Given the description of an element on the screen output the (x, y) to click on. 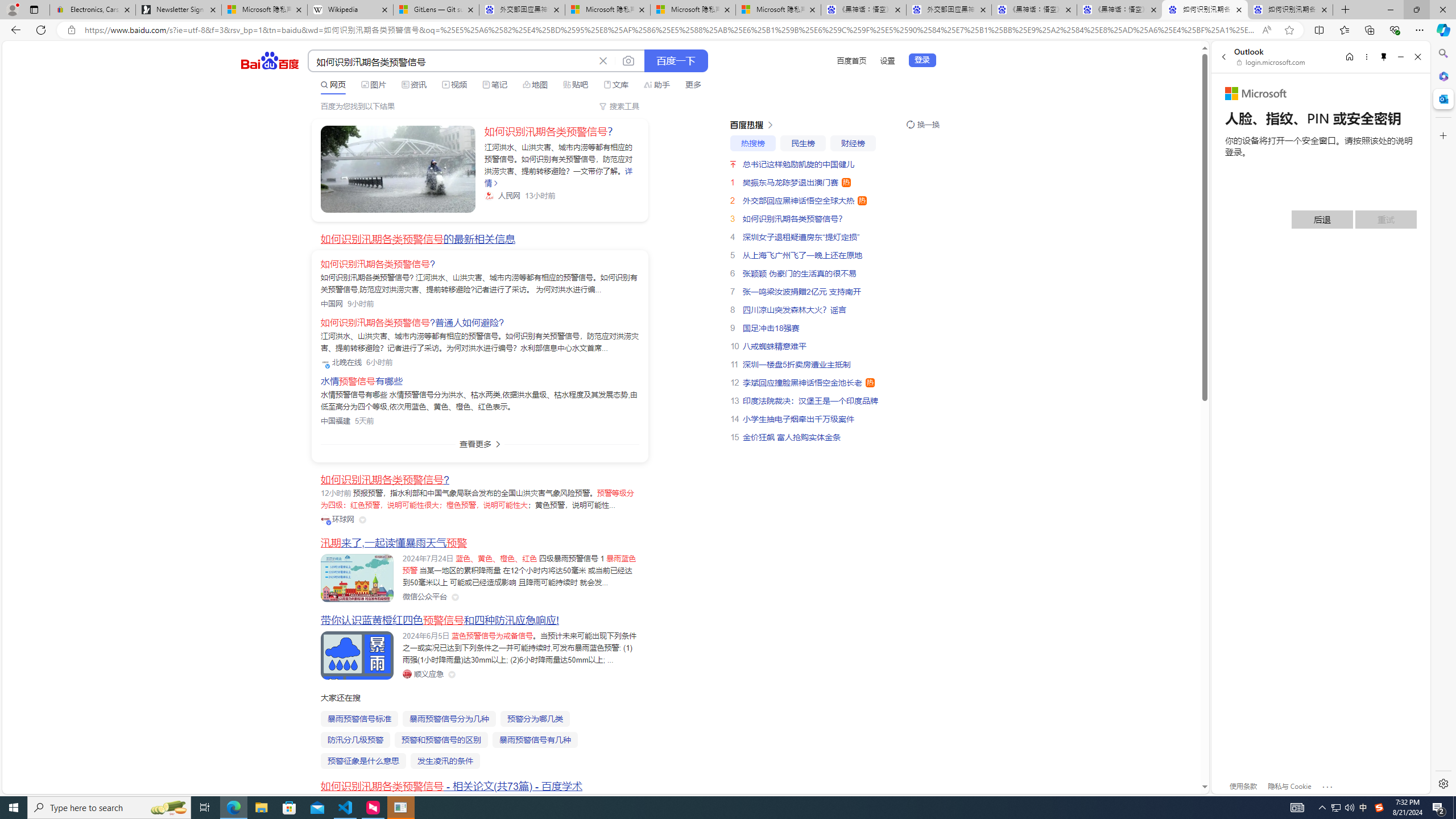
Newsletter Sign Up (178, 9)
